Given the description of an element on the screen output the (x, y) to click on. 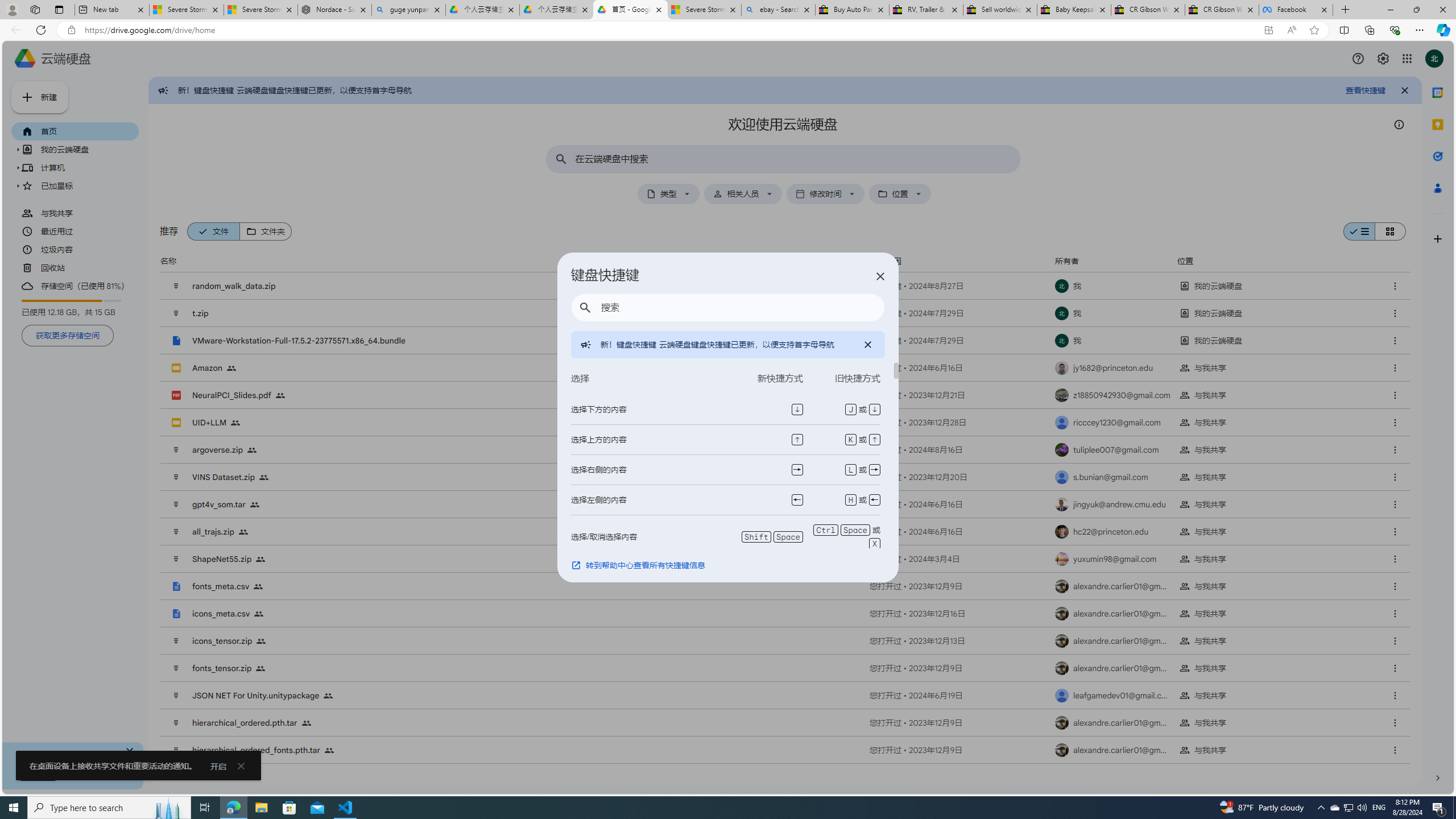
guge yunpan - Search (407, 9)
Baby Keepsakes & Announcements for sale | eBay (1073, 9)
Buy Auto Parts & Accessories | eBay (851, 9)
